Given the description of an element on the screen output the (x, y) to click on. 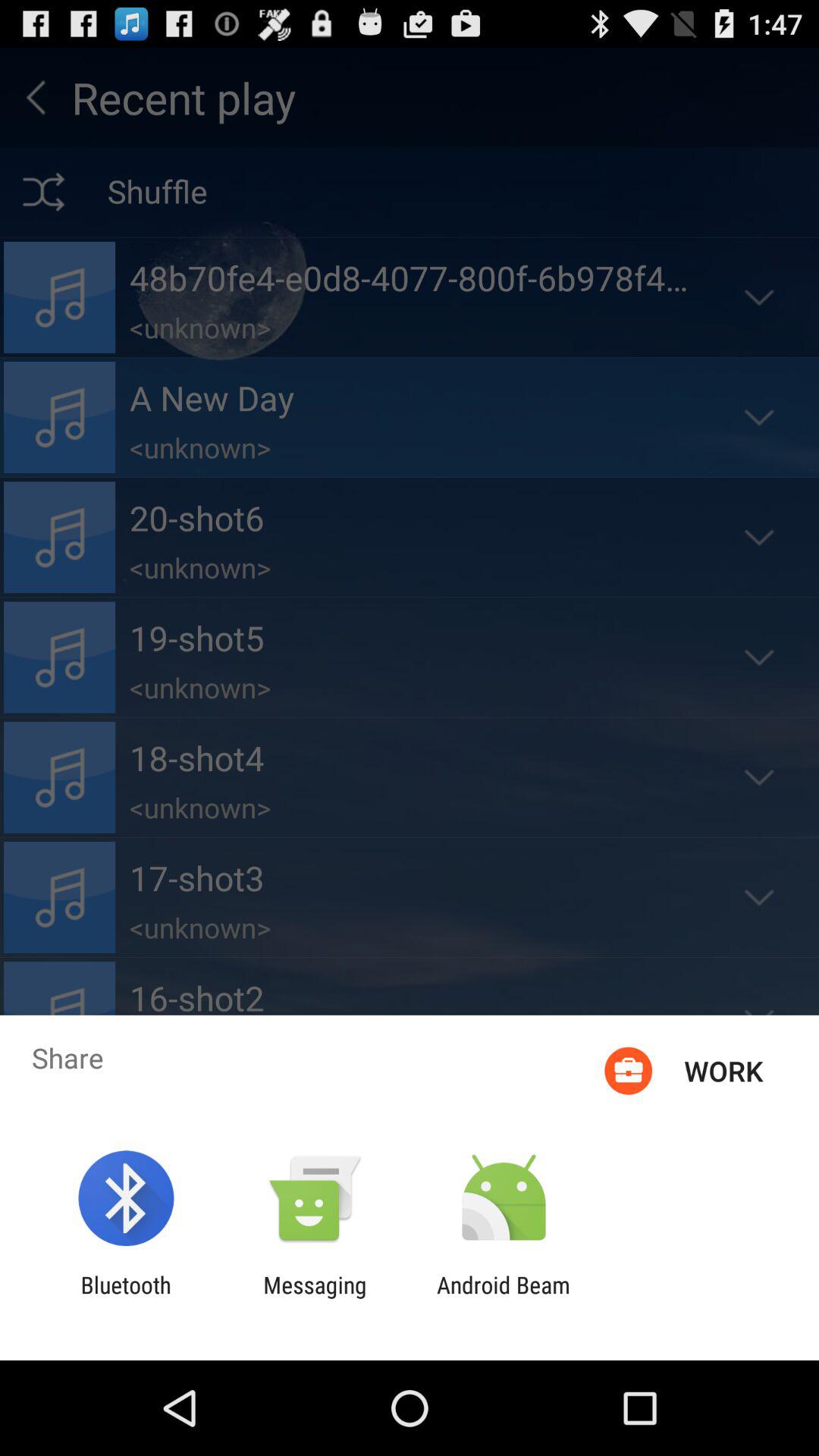
tap item to the right of the bluetooth app (314, 1298)
